Given the description of an element on the screen output the (x, y) to click on. 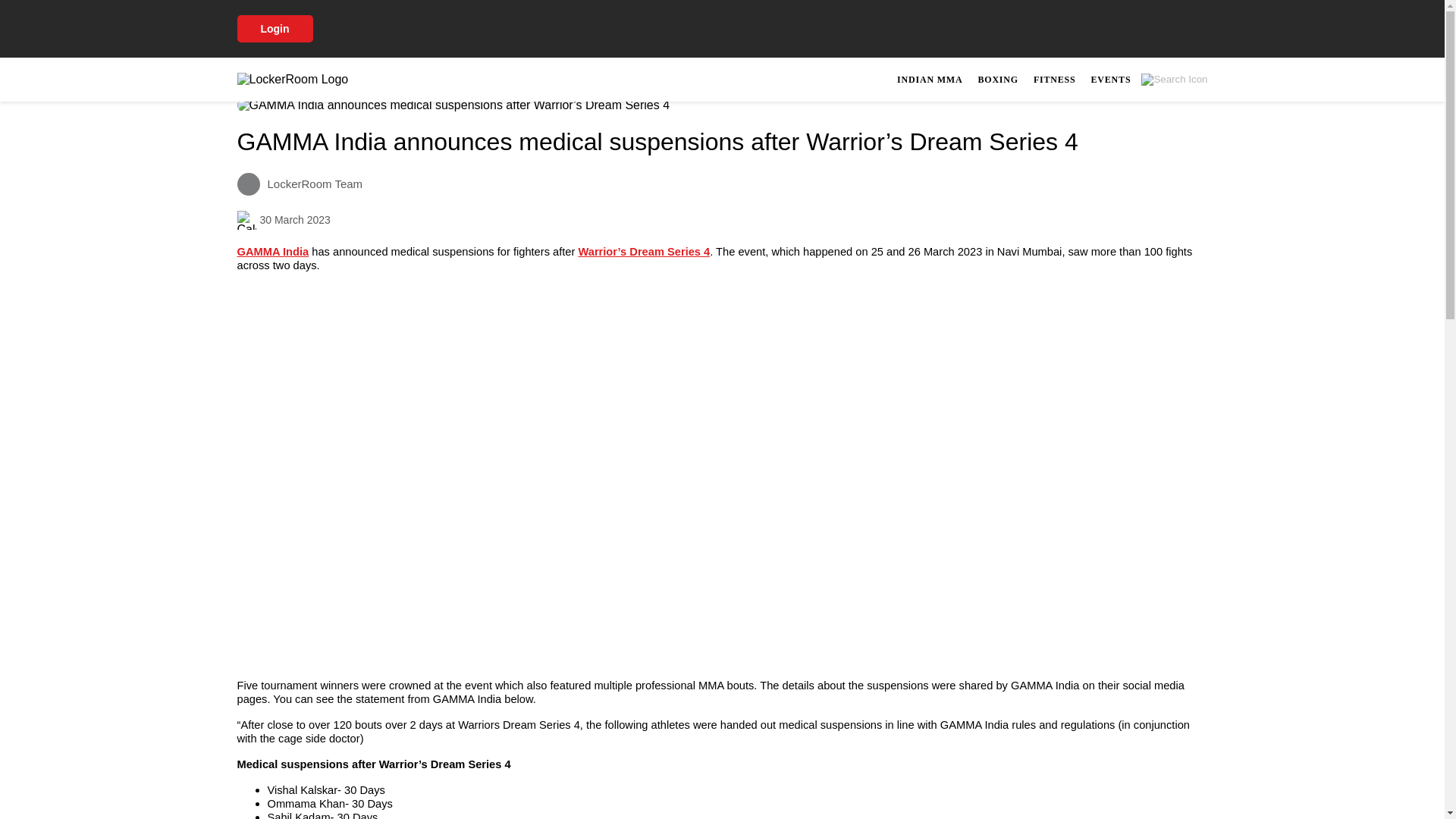
FITNESS (1049, 78)
BOXING (1054, 78)
GAMMA India (997, 78)
EVENTS (271, 251)
INDIAN MMA (1110, 78)
